Given the description of an element on the screen output the (x, y) to click on. 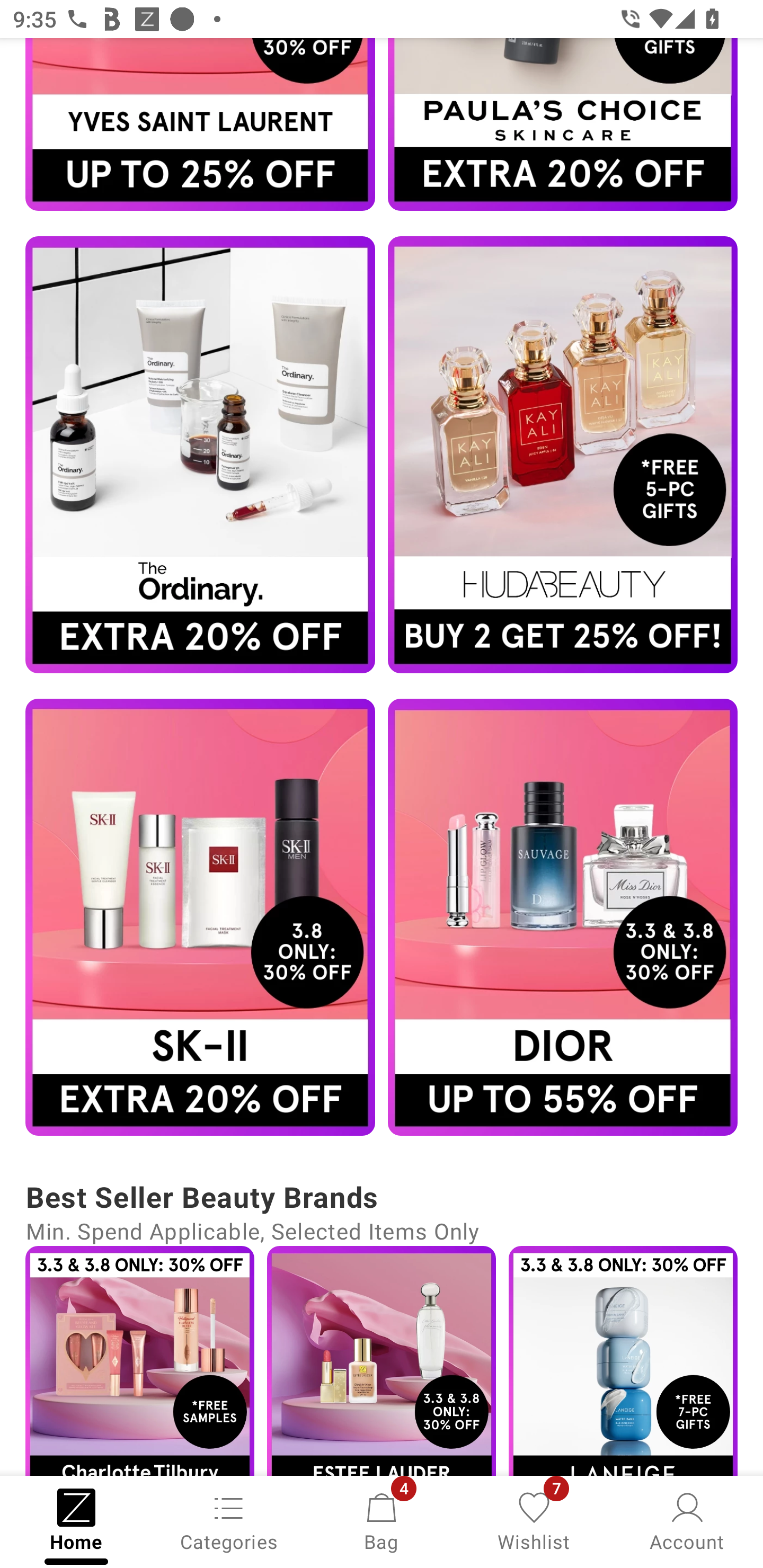
Campaign banner (200, 123)
Campaign banner (562, 123)
Campaign banner (200, 454)
Campaign banner (562, 454)
Campaign banner (200, 917)
Campaign banner (562, 917)
Campaign banner (139, 1360)
Campaign banner (381, 1360)
Campaign banner (622, 1360)
Categories (228, 1519)
Bag, 4 new notifications Bag (381, 1519)
Wishlist, 7 new notifications Wishlist (533, 1519)
Account (686, 1519)
